Given the description of an element on the screen output the (x, y) to click on. 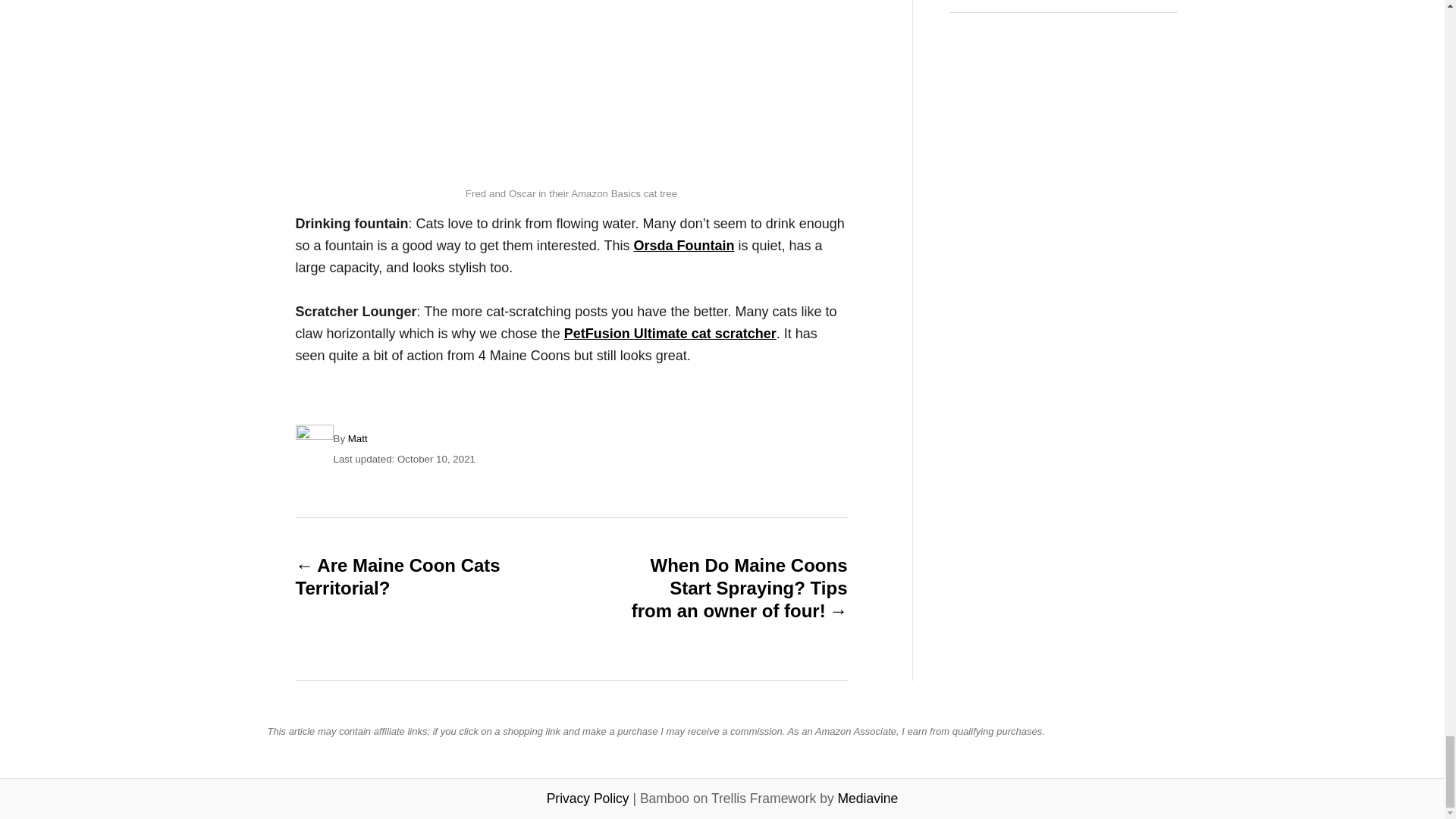
Orsda Fountain (683, 245)
PetFusion Ultimate cat scratcher (670, 333)
Matt (357, 438)
